Given the description of an element on the screen output the (x, y) to click on. 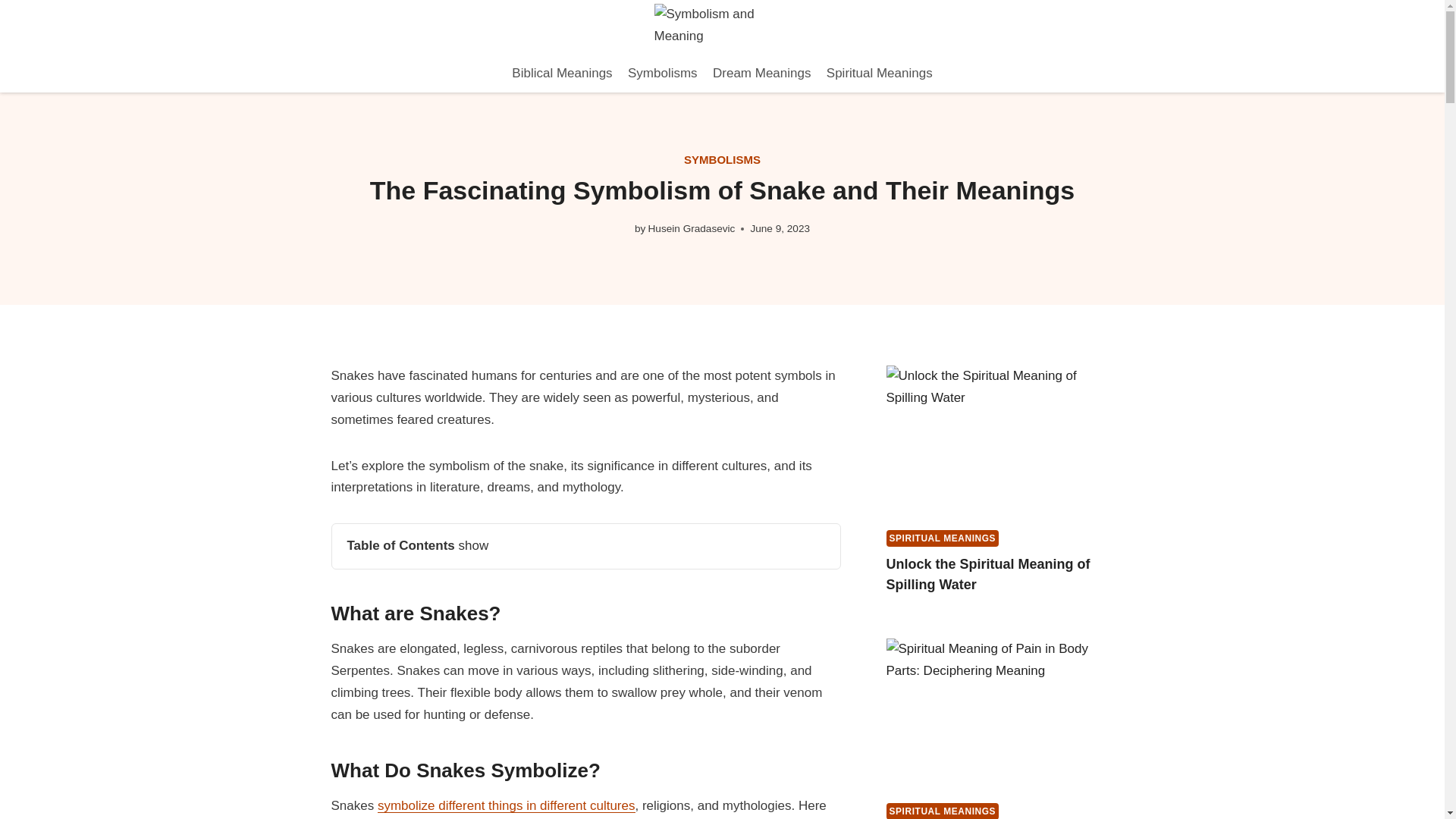
Spiritual Meanings (879, 73)
The Symbolism of Bobcat in Mythology, Dreams, and Culture (505, 805)
show (473, 545)
Symbolisms (662, 73)
SYMBOLISMS (722, 159)
Symbolisms (722, 159)
Dream Meanings (761, 73)
Biblical Meanings (561, 73)
